Given the description of an element on the screen output the (x, y) to click on. 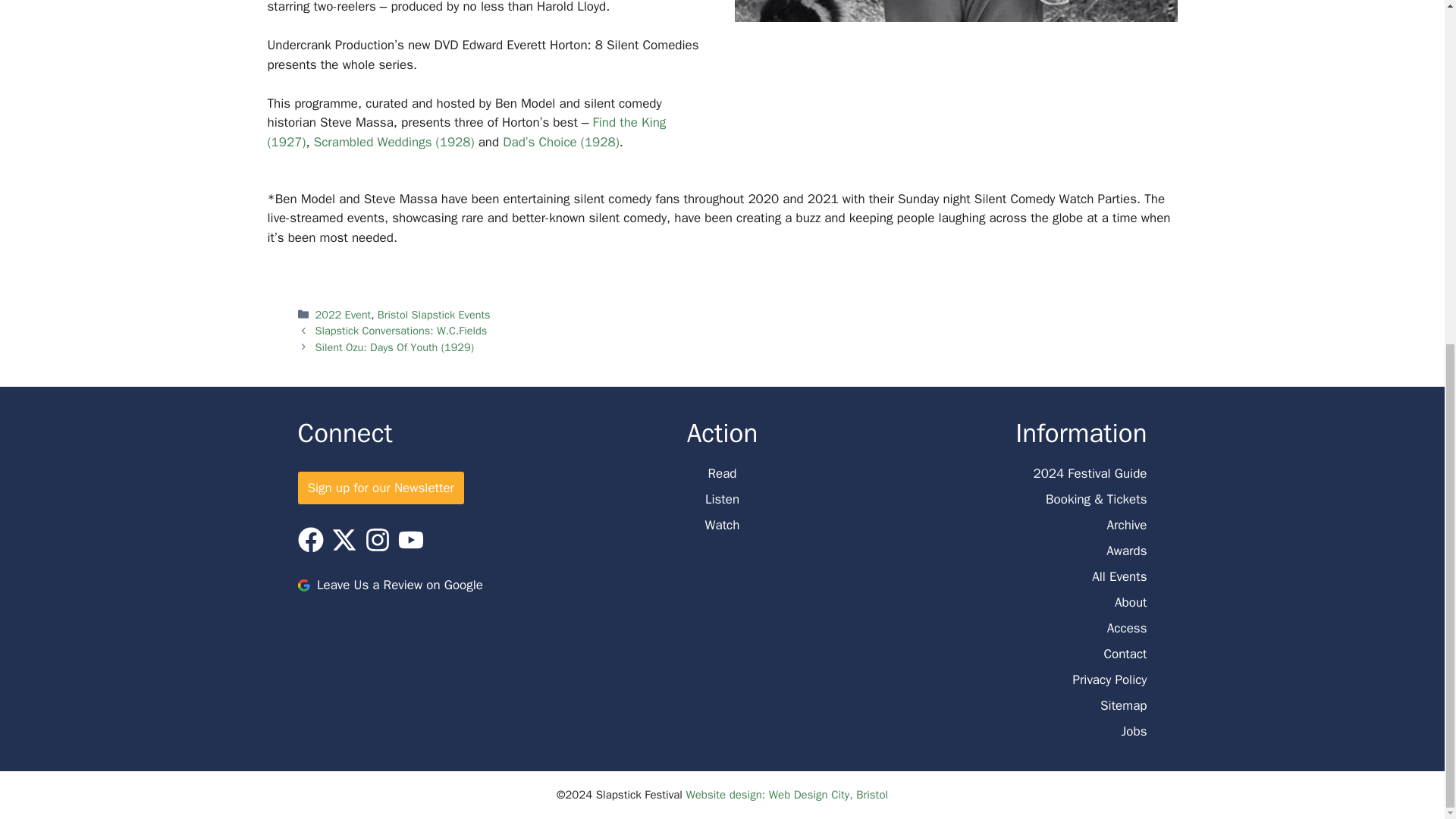
Slapstick Conversations: W.C.Fields (401, 330)
2022 Event (343, 314)
Bristol Slapstick Events (433, 314)
